Given the description of an element on the screen output the (x, y) to click on. 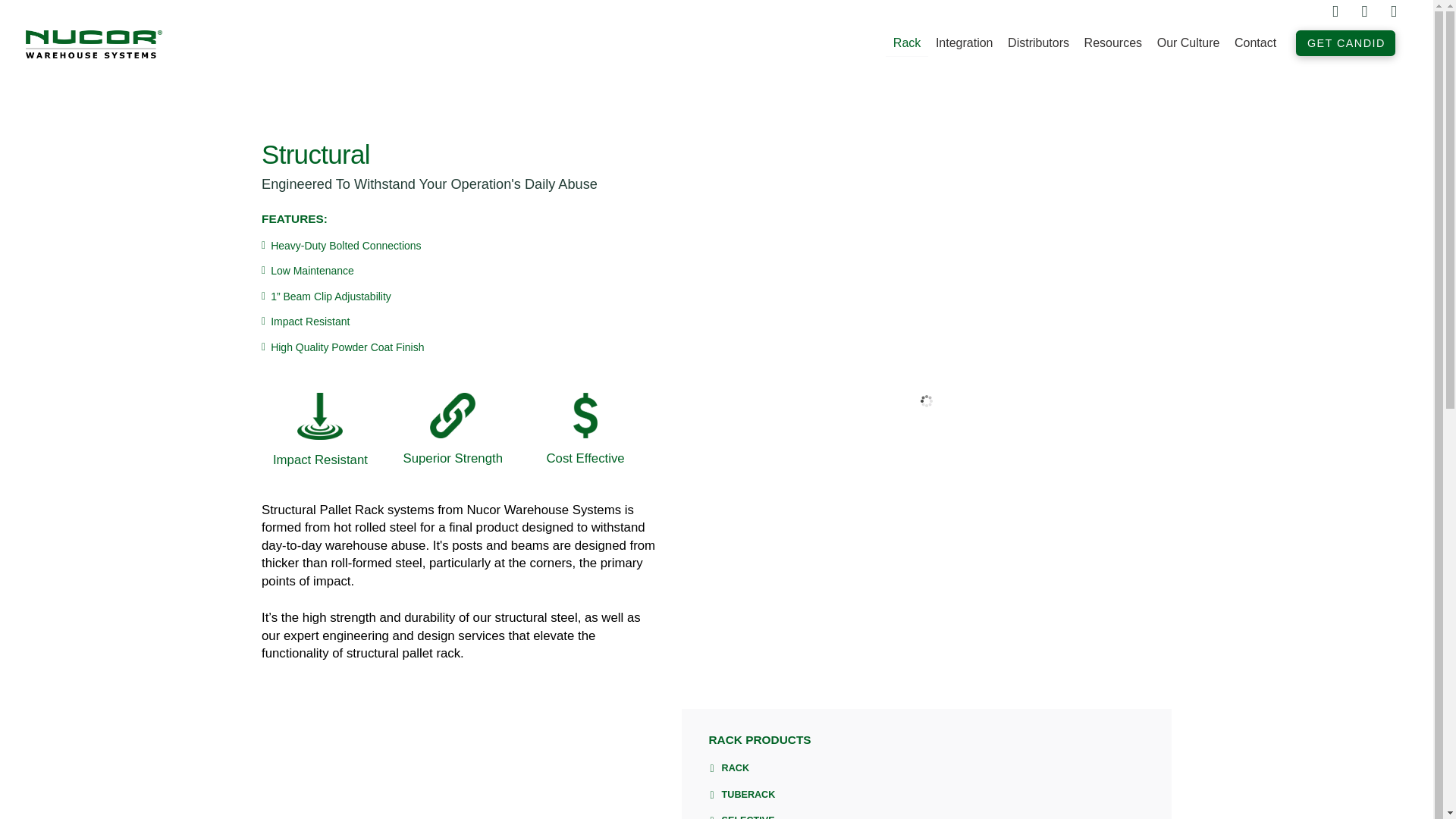
Rack (906, 43)
Distributors (1038, 43)
Integration (964, 43)
